Given the description of an element on the screen output the (x, y) to click on. 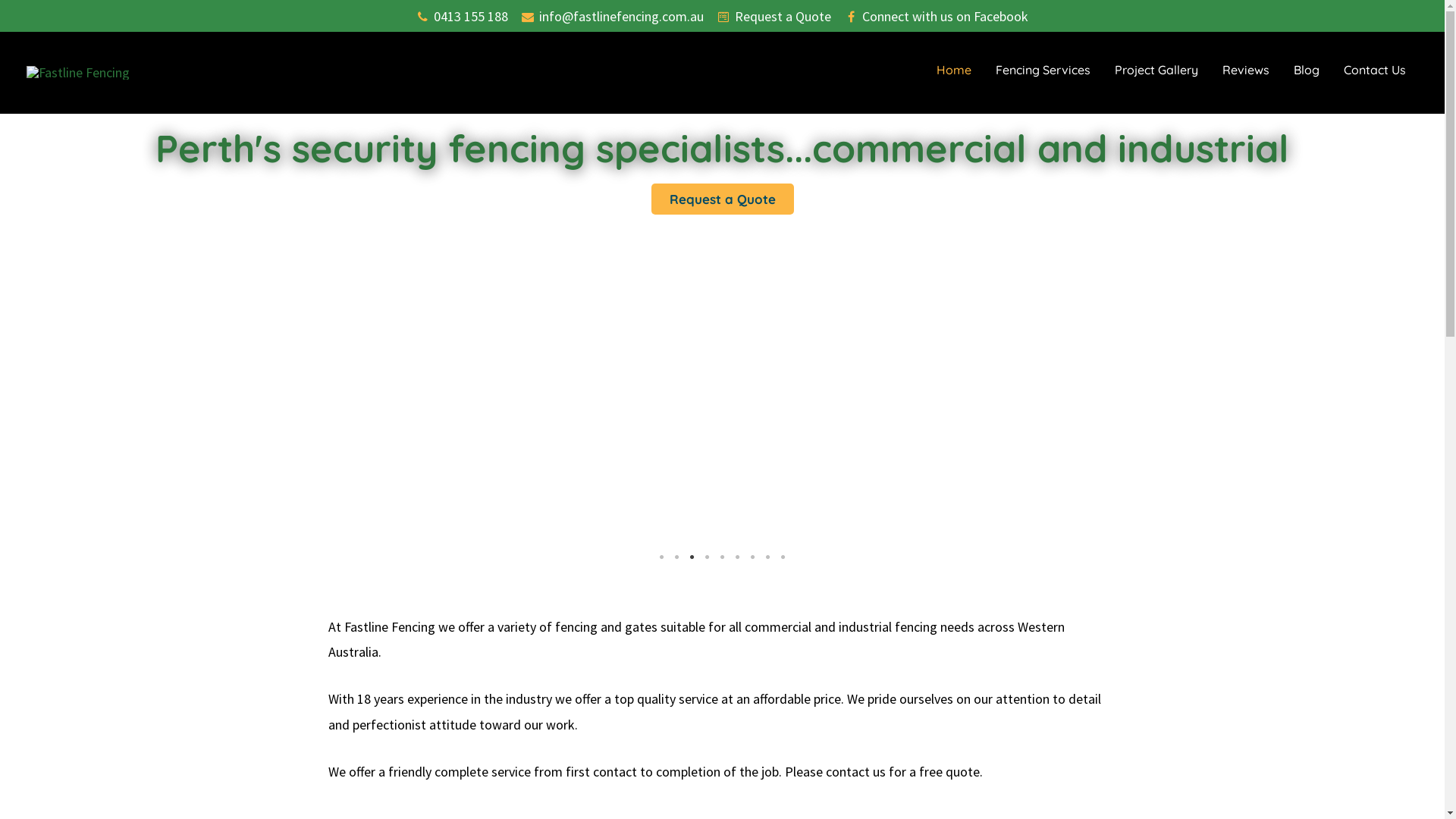
9 Element type: text (782, 556)
Fencing Services Element type: text (1042, 69)
6 Element type: text (736, 556)
Contact Us Element type: text (1374, 69)
Reviews Element type: text (1245, 69)
8 Element type: text (767, 556)
Project Gallery Element type: text (1156, 69)
Request a Quote Element type: text (774, 16)
1 Element type: text (660, 556)
Connect with us on Facebook Element type: text (936, 16)
5 Element type: text (721, 556)
2 Element type: text (676, 556)
Next Element type: text (1421, 340)
Home Element type: text (953, 69)
4 Element type: text (706, 556)
7 Element type: text (751, 556)
Previous Element type: text (22, 340)
3 Element type: text (691, 556)
Blog Element type: text (1306, 69)
